Given the description of an element on the screen output the (x, y) to click on. 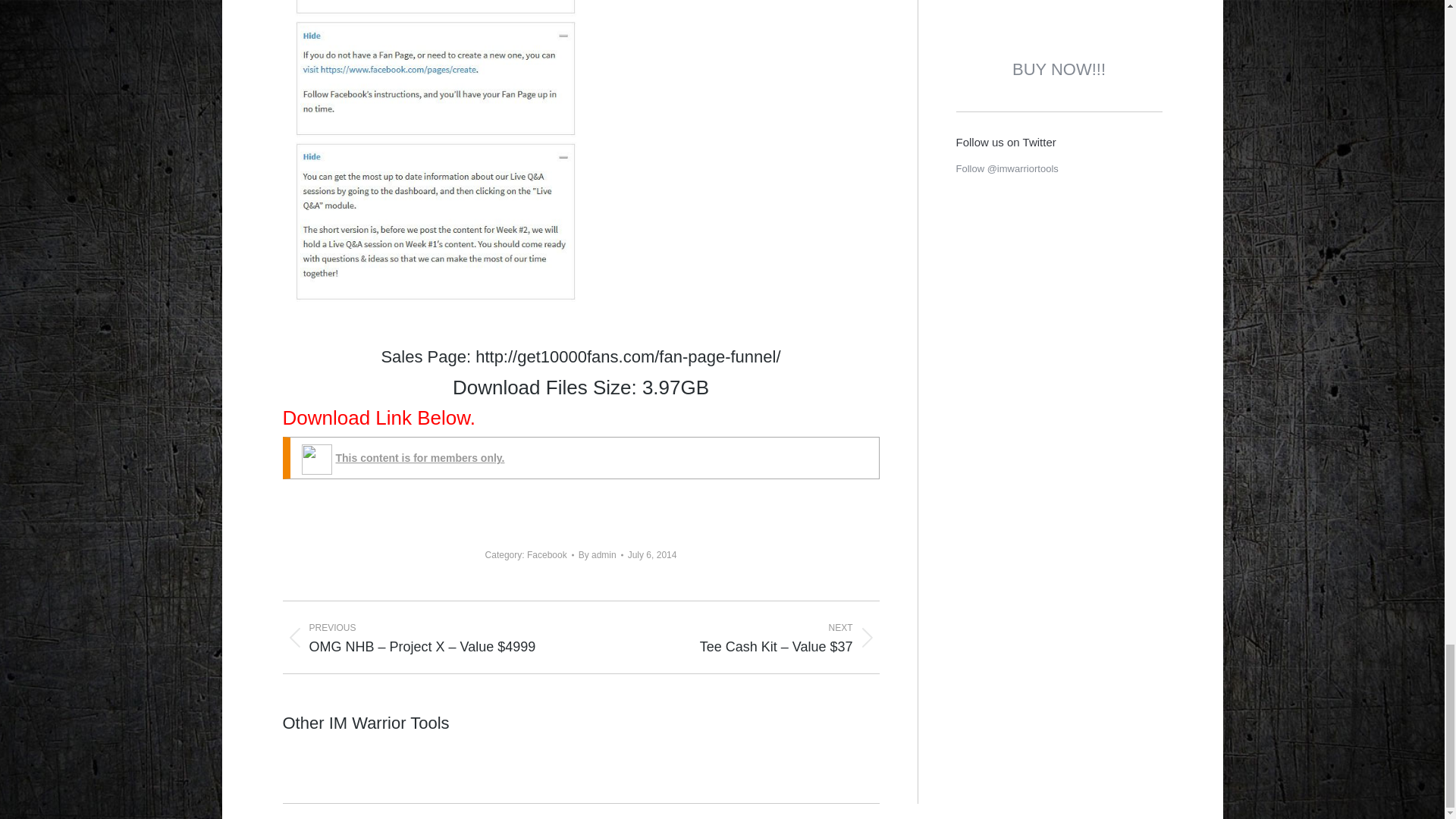
3:02 pm (652, 554)
View all posts by admin (600, 554)
